Given the description of an element on the screen output the (x, y) to click on. 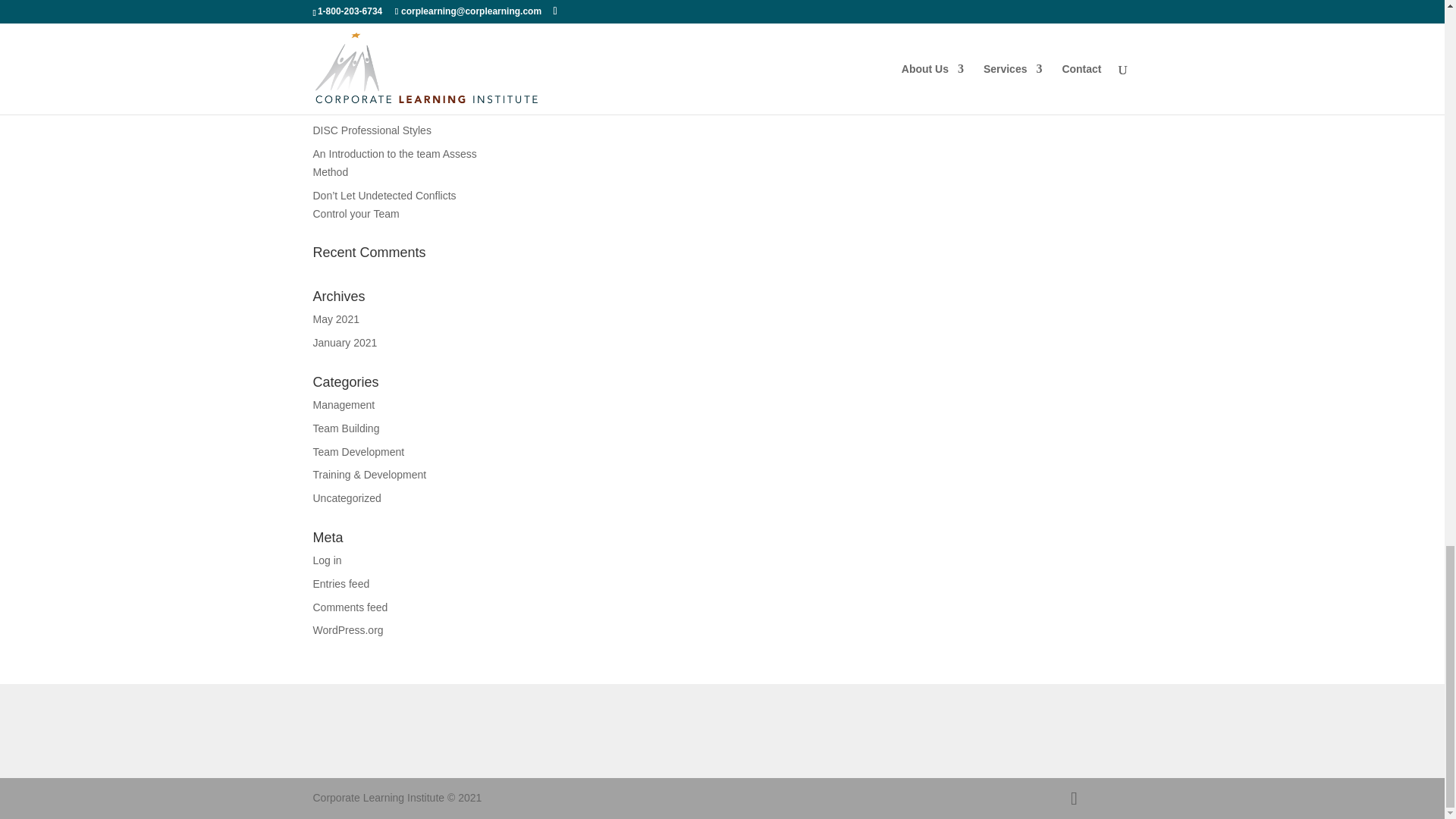
Navigating Pandemic Fatigue   (389, 107)
